Given the description of an element on the screen output the (x, y) to click on. 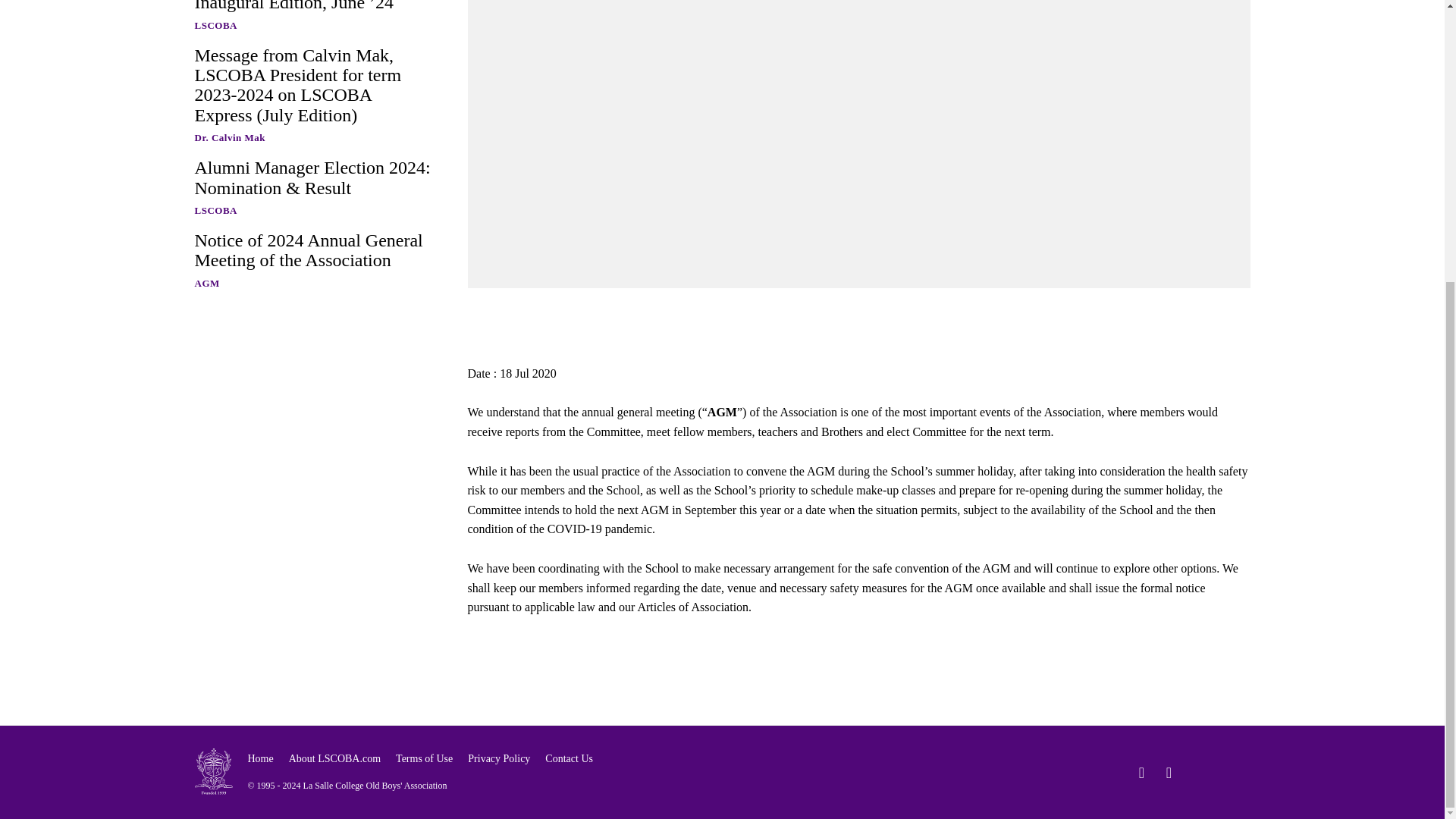
Notice of 2024 Annual General Meeting of the Association (307, 250)
Instagram (1168, 771)
Facebook (1141, 771)
